Given the description of an element on the screen output the (x, y) to click on. 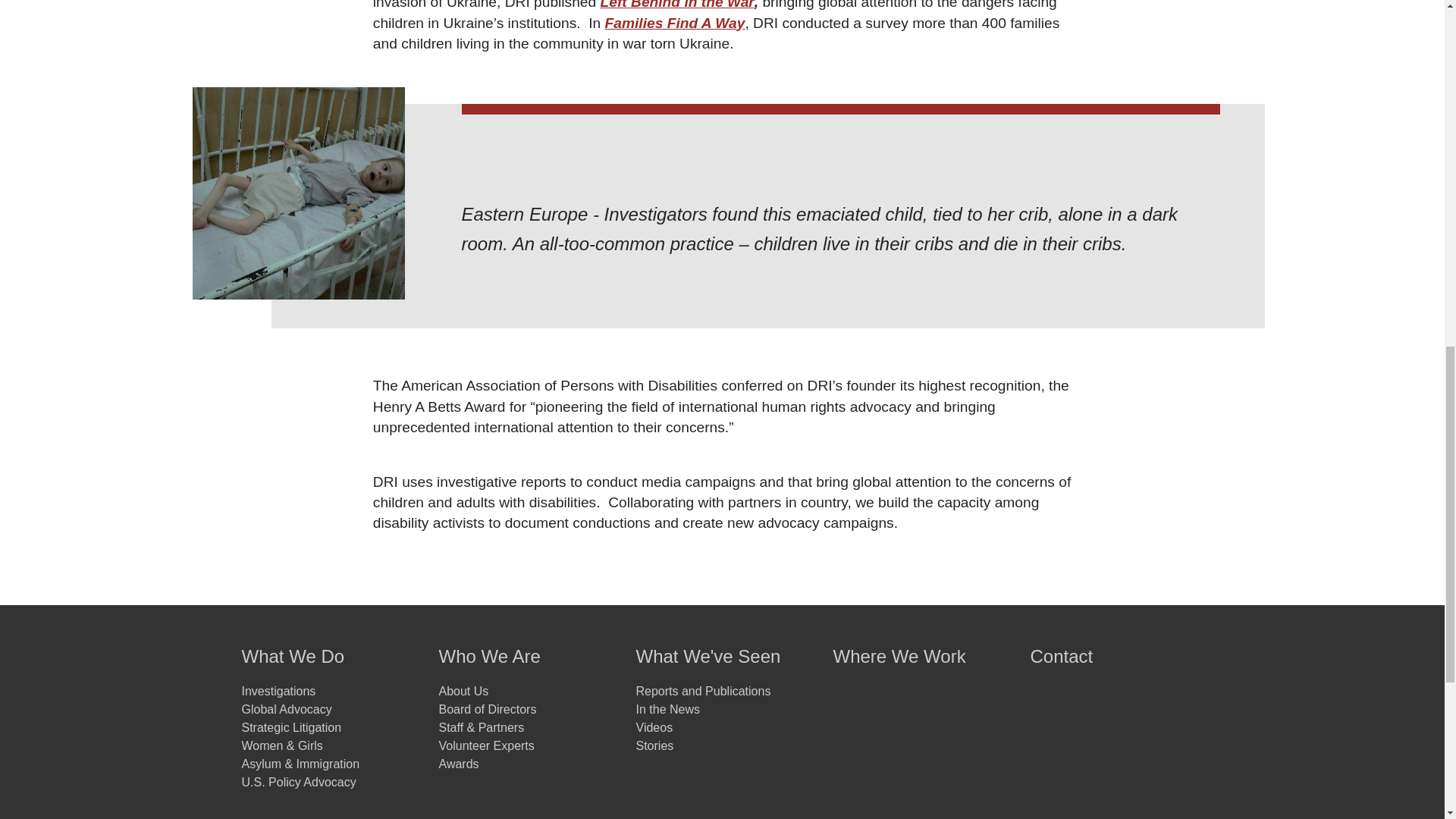
Families Find A Way (675, 23)
Left Behind in the War (676, 4)
